Given the description of an element on the screen output the (x, y) to click on. 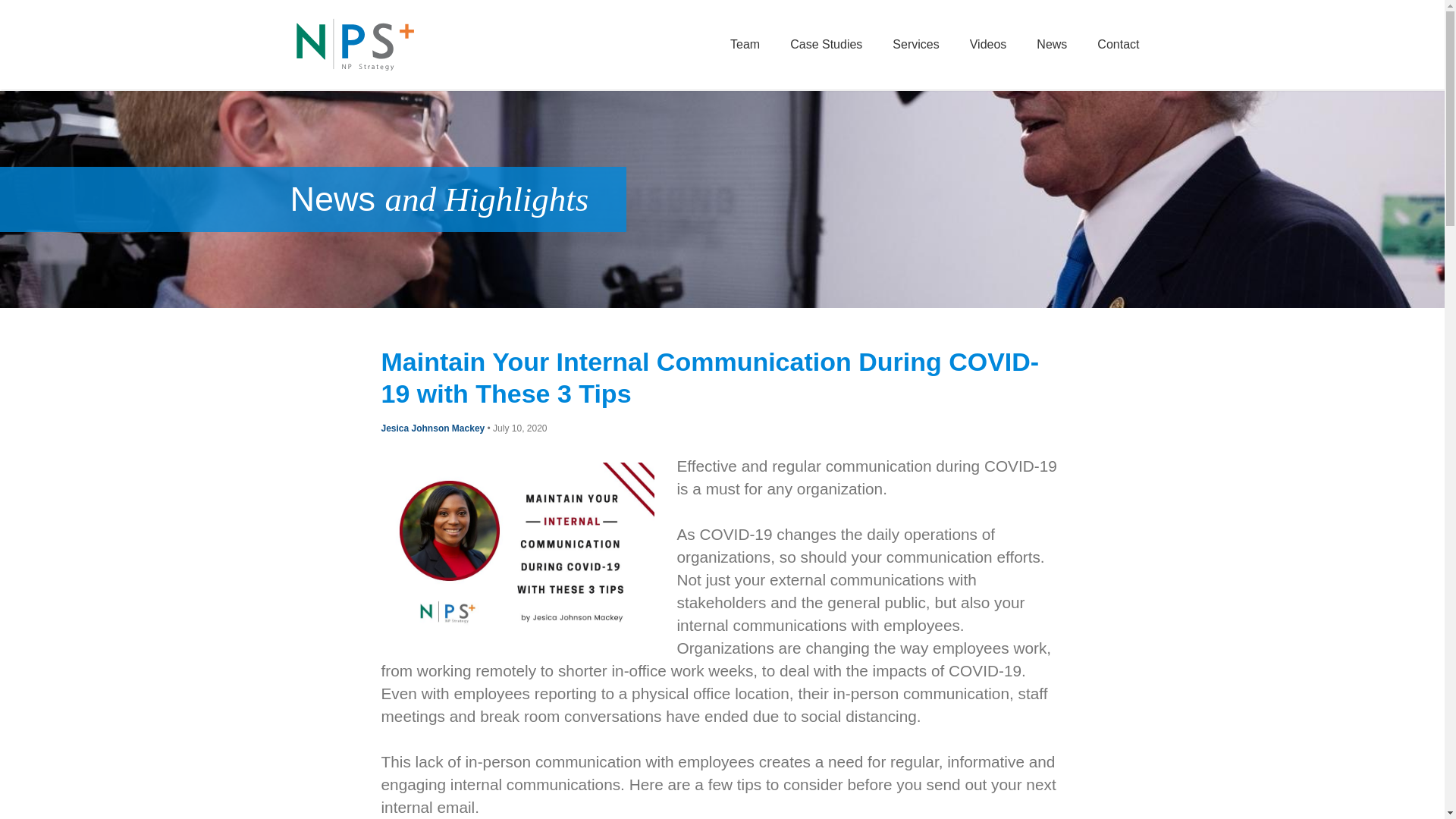
NPS (354, 44)
Jesica Johnson Mackey (432, 428)
Case Studies (825, 44)
